Given the description of an element on the screen output the (x, y) to click on. 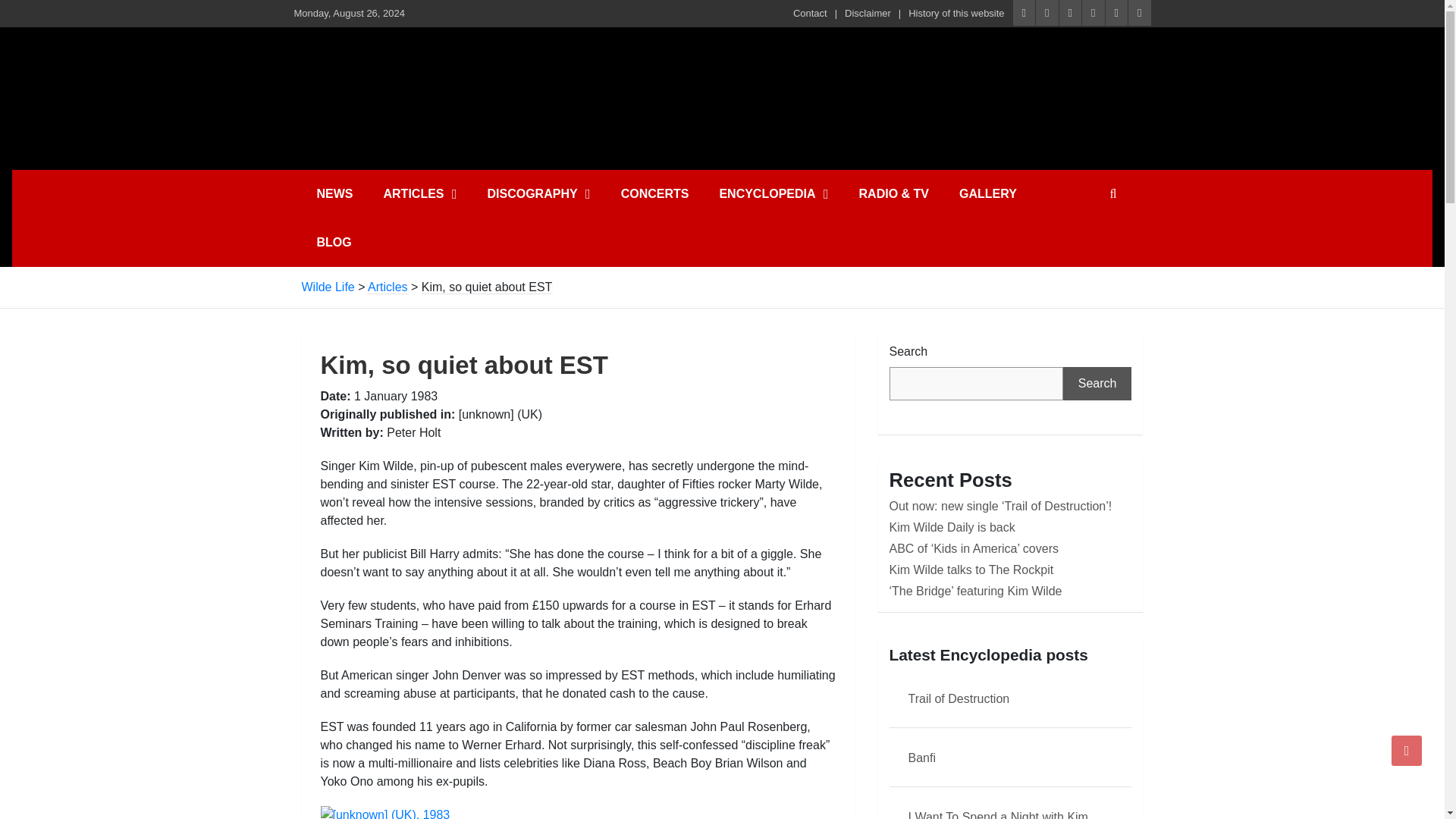
ENCYCLOPEDIA (773, 193)
History of this website (956, 13)
DISCOGRAPHY (538, 193)
CONCERTS (654, 193)
Go to Top (1406, 750)
Go to Articles. (387, 286)
Disclaimer (867, 13)
ARTICLES (419, 193)
Go to Wilde Life. (328, 286)
Wilde Life (442, 62)
